Given the description of an element on the screen output the (x, y) to click on. 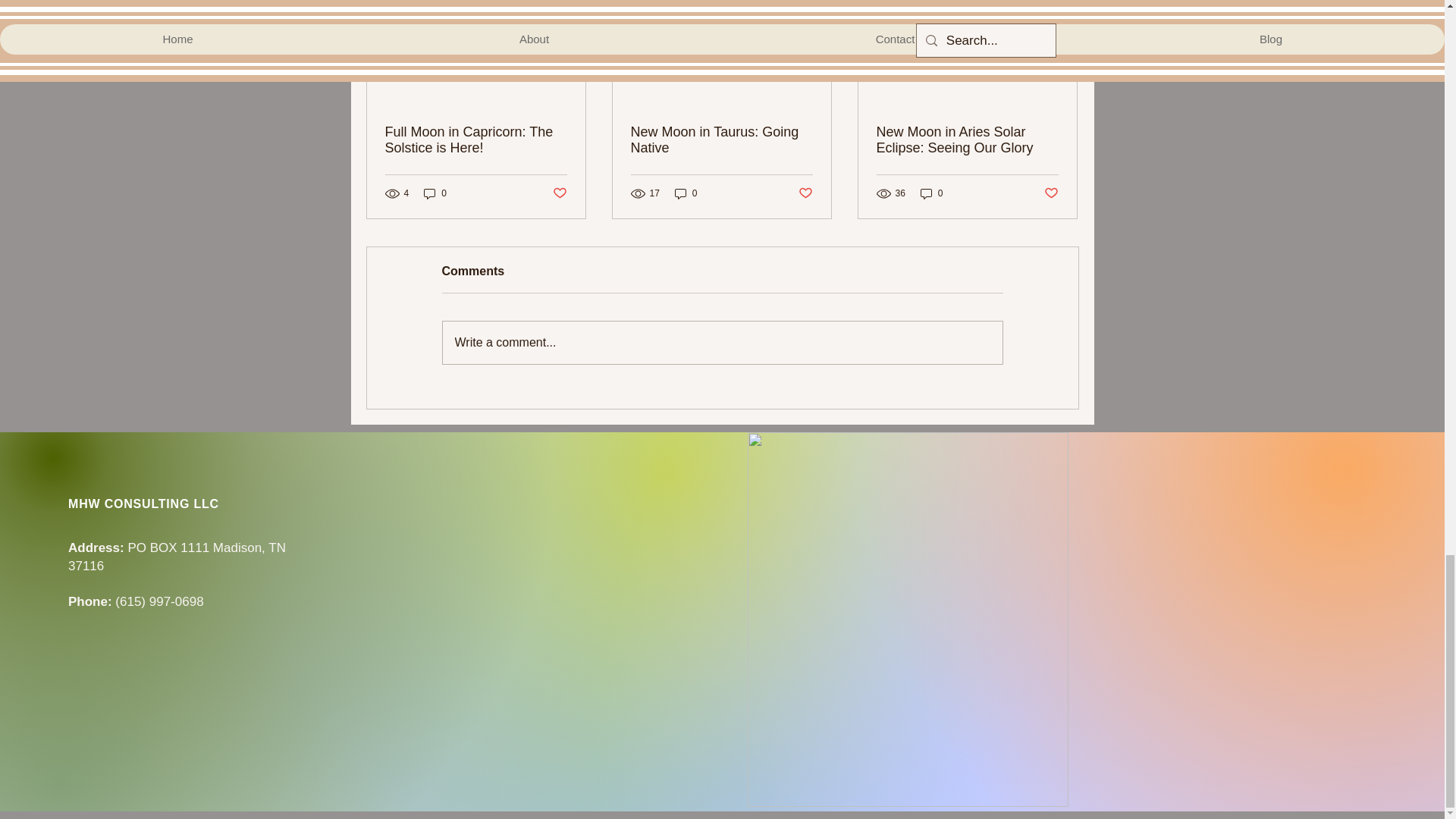
Full Moon in Capricorn: The Solstice is Here! (476, 140)
0 (435, 192)
Post not marked as liked (804, 193)
Post not marked as liked (558, 193)
0 (931, 192)
Write a comment... (722, 342)
New Moon in Taurus: Going Native (721, 140)
Post not marked as liked (1050, 193)
0 (685, 192)
New Moon in Aries Solar Eclipse: Seeing Our Glory (967, 140)
